Given the description of an element on the screen output the (x, y) to click on. 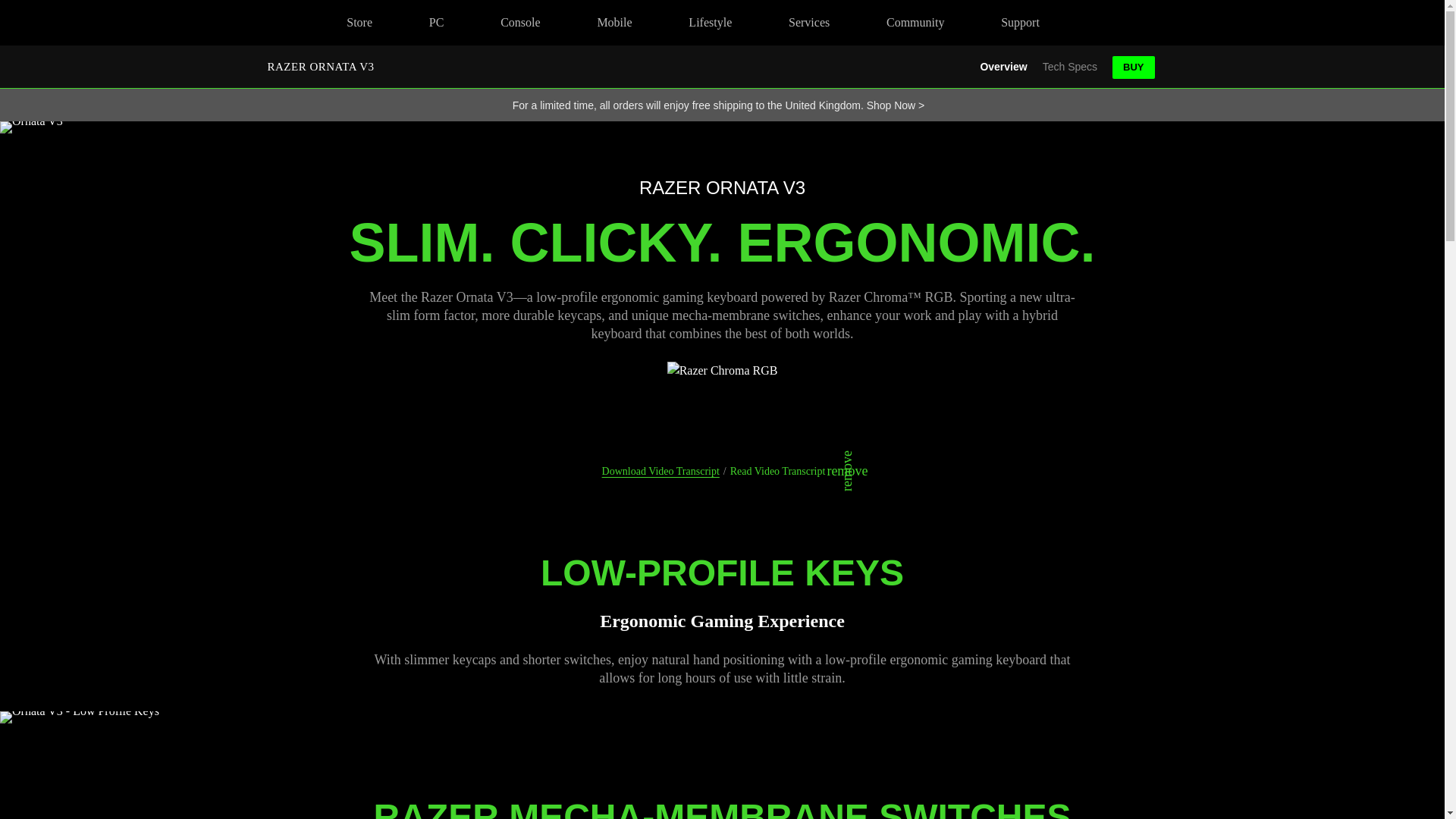
Download Video Transcript (660, 471)
Overview (1002, 67)
Store (359, 22)
BUY (1133, 67)
Community (915, 22)
Console (520, 22)
Tech Specs (1069, 67)
Mobile (614, 22)
Services (809, 22)
Support (1020, 22)
Lifestyle (786, 471)
